Given the description of an element on the screen output the (x, y) to click on. 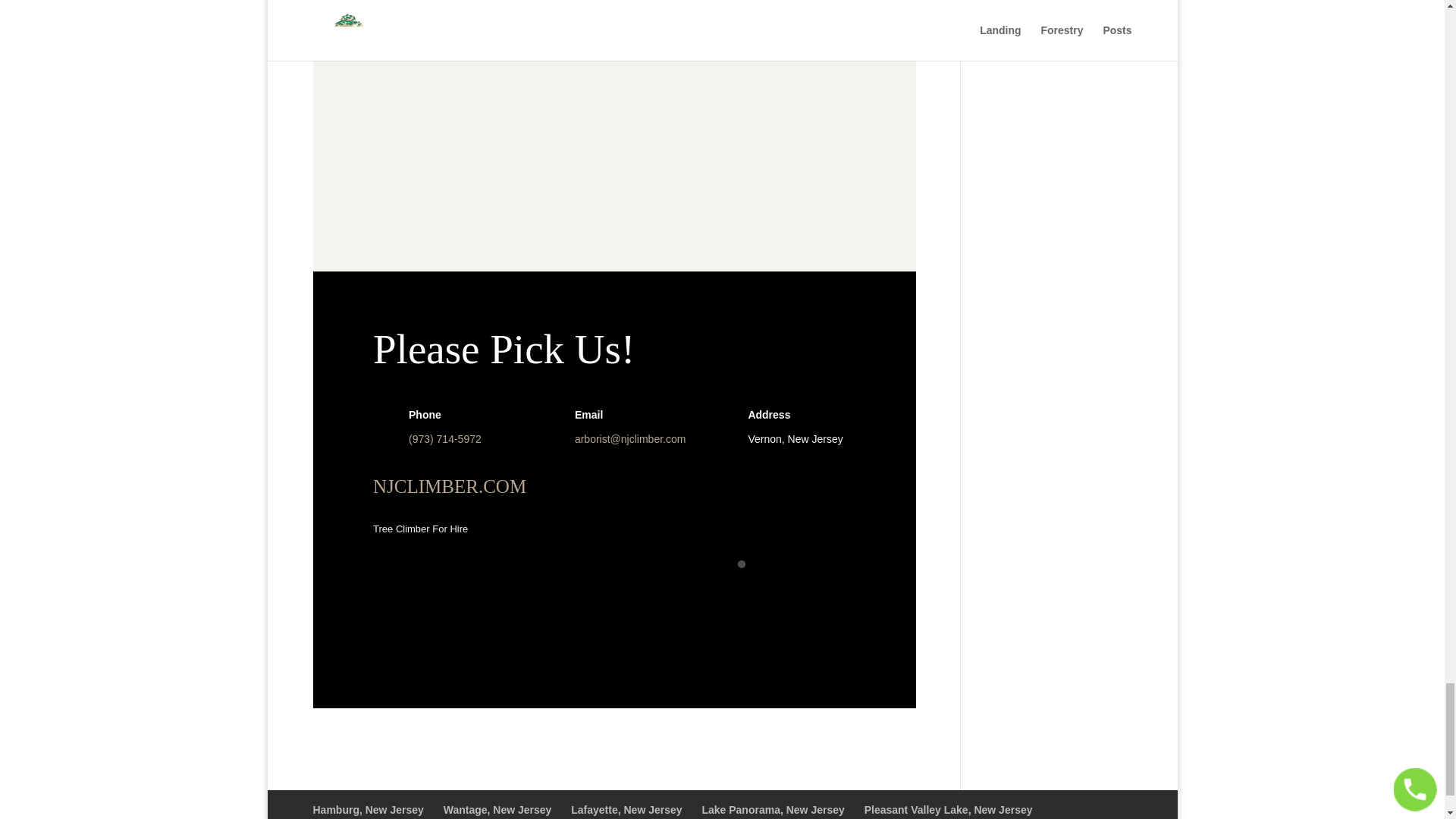
Wantage, New Jersey (497, 809)
Pleasant Valley Lake, New Jersey (948, 809)
Lake Panorama, New Jersey (772, 809)
Hamburg, New Jersey (368, 809)
Lafayette, New Jersey (625, 809)
